Given the description of an element on the screen output the (x, y) to click on. 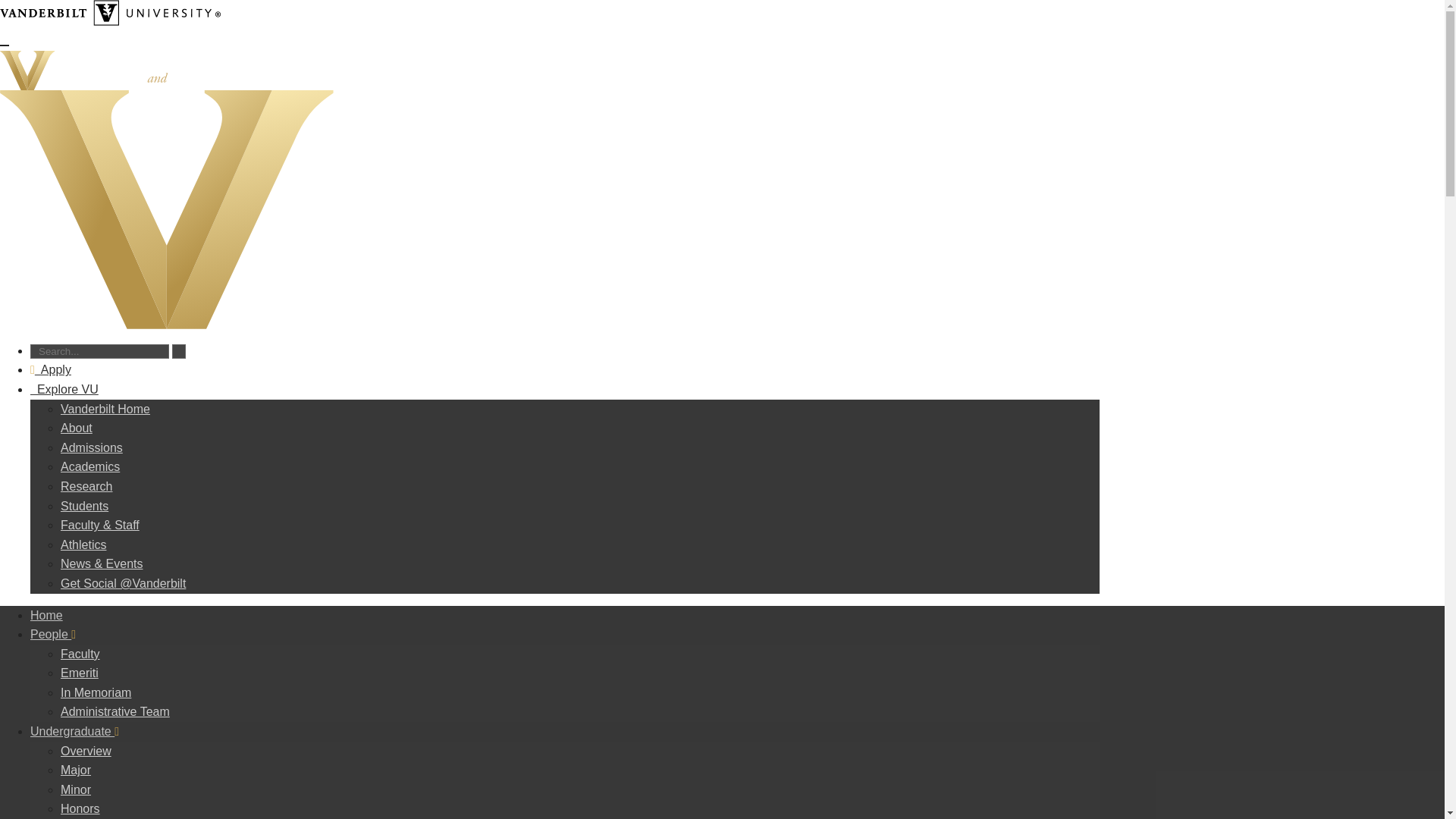
Athletics (83, 544)
  Apply (50, 369)
Emeriti (80, 672)
Admissions (91, 447)
People (52, 634)
Minor (75, 789)
Administrative Team (115, 711)
  Explore VU (64, 389)
In Memoriam (96, 692)
Major (75, 769)
Honors (80, 808)
Students (84, 505)
About (77, 427)
